Given the description of an element on the screen output the (x, y) to click on. 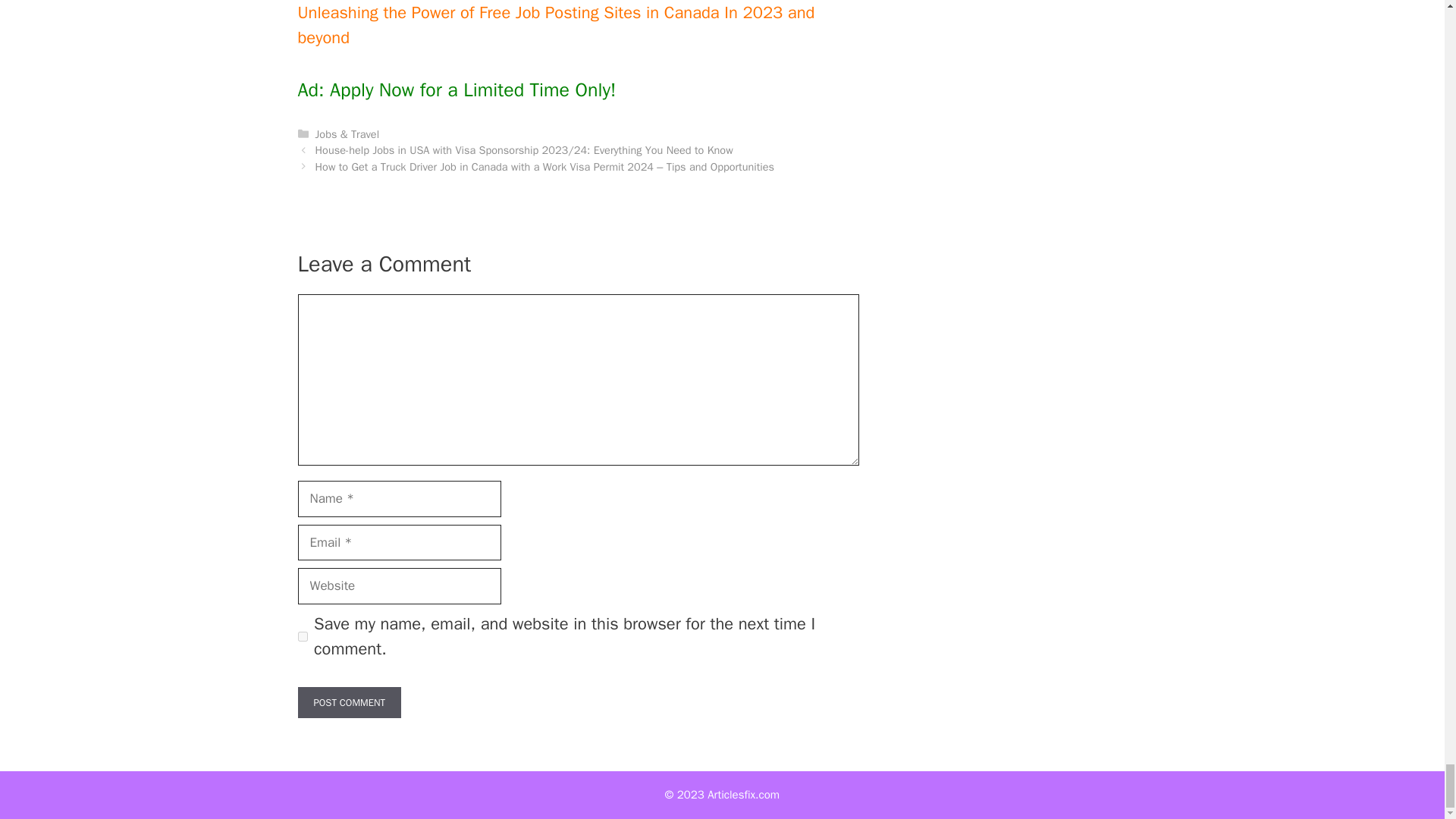
yes (302, 636)
Post Comment (349, 703)
